Given the description of an element on the screen output the (x, y) to click on. 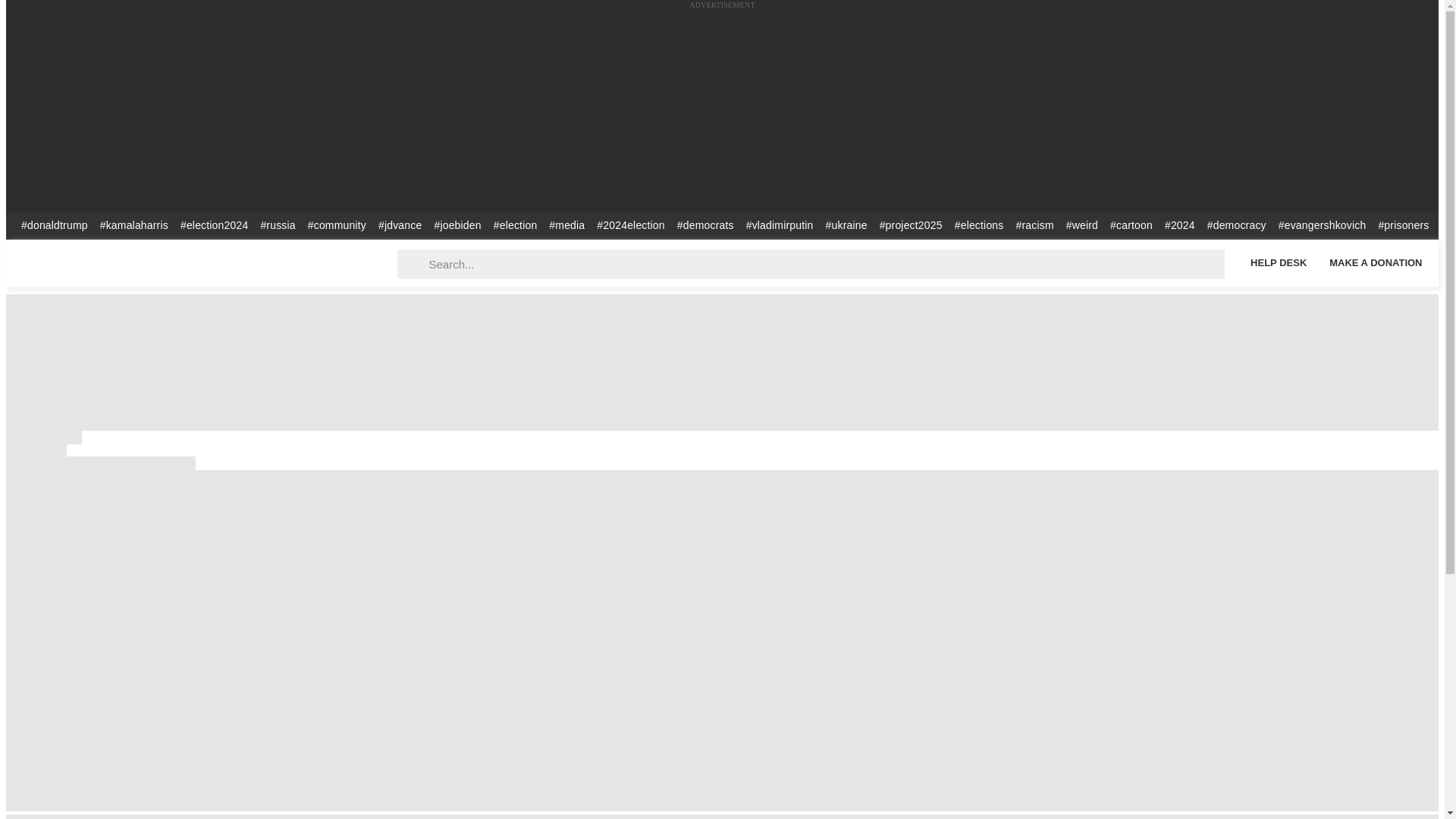
Help Desk (1277, 262)
MAKE A DONATION (1375, 262)
Make a Donation (1375, 262)
